Given the description of an element on the screen output the (x, y) to click on. 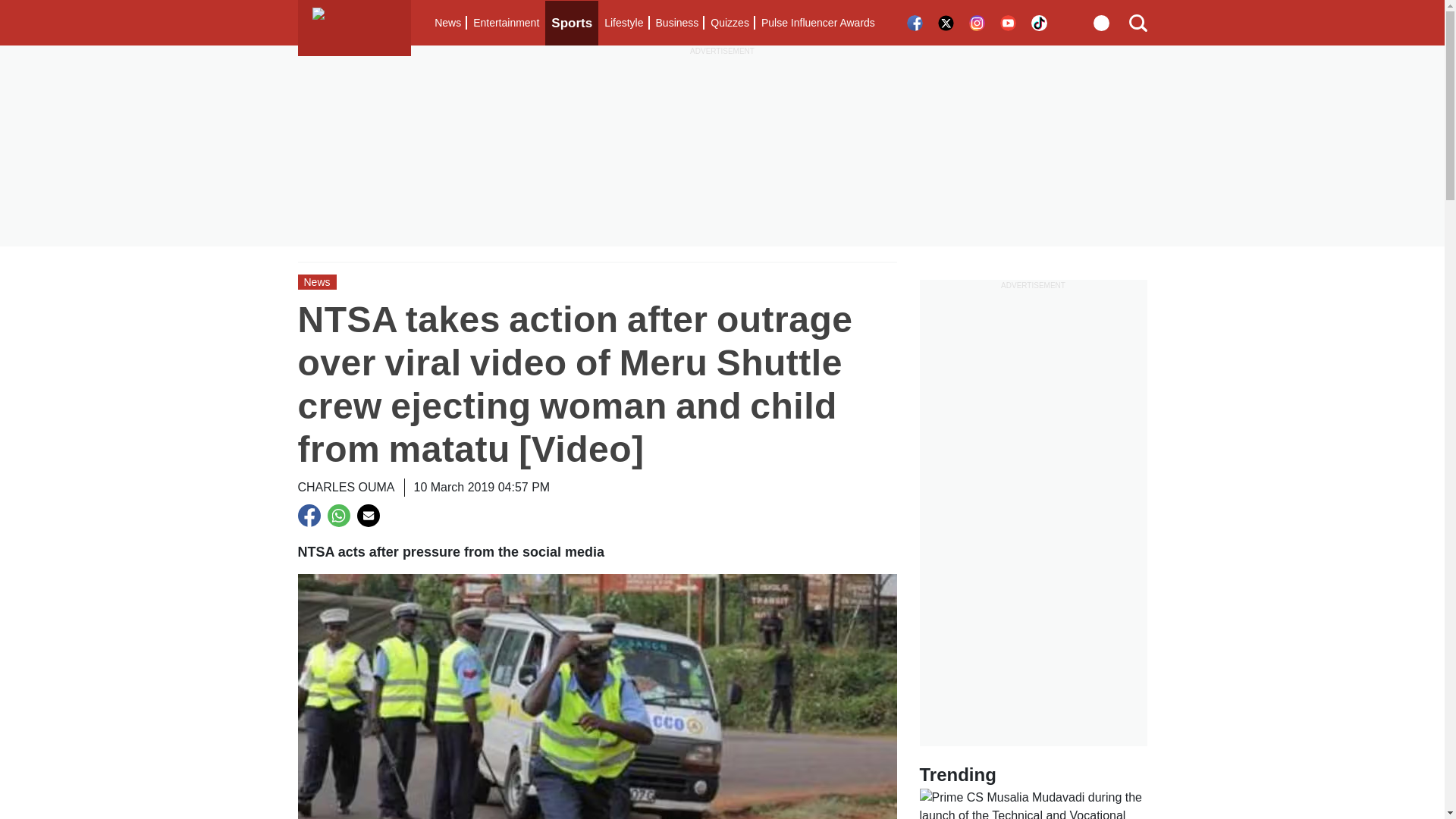
Sports (571, 22)
Quizzes (729, 22)
Pulse Influencer Awards (817, 22)
Business (676, 22)
Entertainment (505, 22)
Lifestyle (623, 22)
News (447, 22)
